Given the description of an element on the screen output the (x, y) to click on. 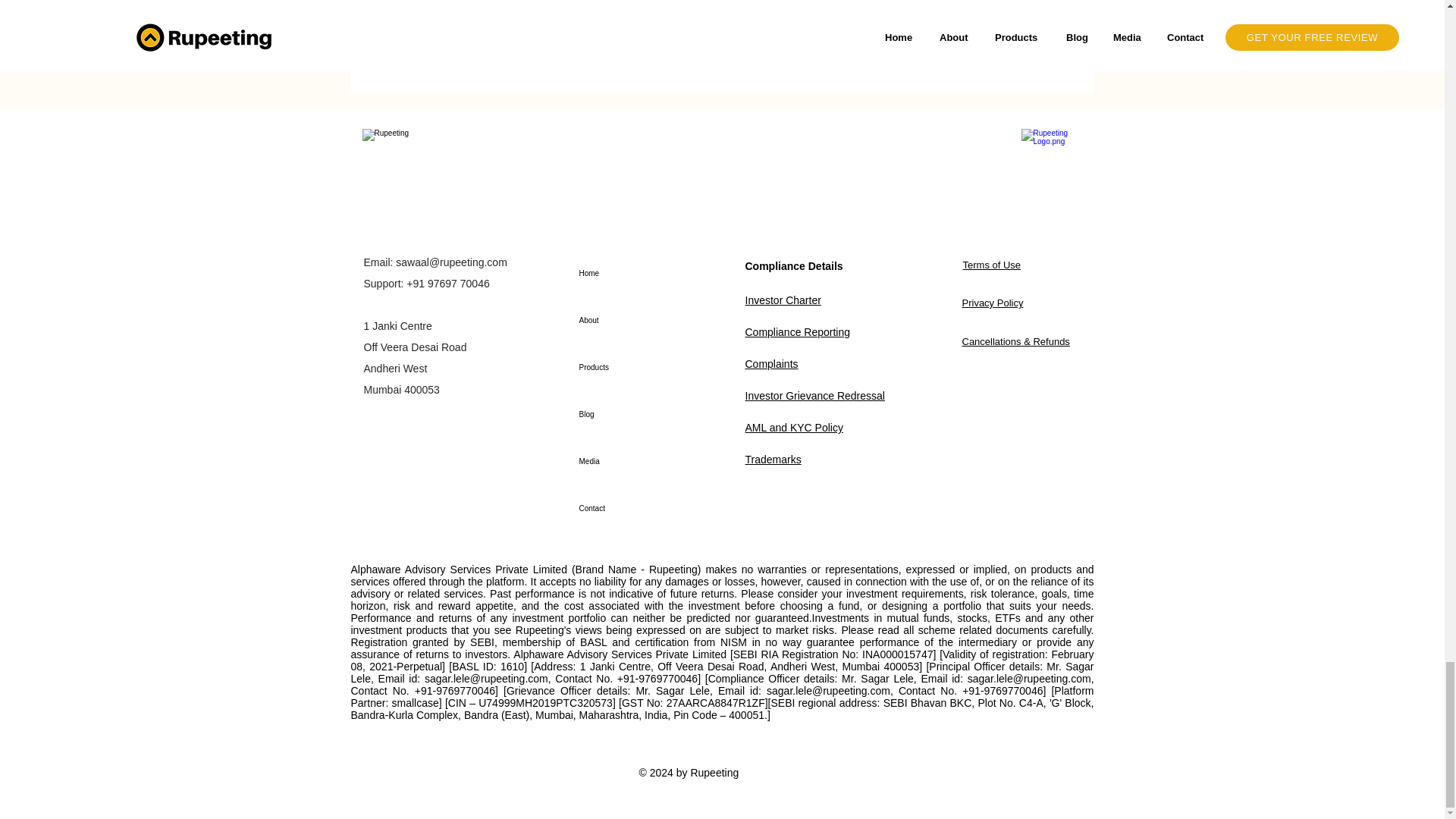
0 (681, 36)
0 (440, 36)
Home (632, 273)
Post not marked as liked (558, 36)
0 (931, 36)
About (632, 320)
Post not marked as liked (804, 36)
Post not marked as liked (1050, 36)
